Given the description of an element on the screen output the (x, y) to click on. 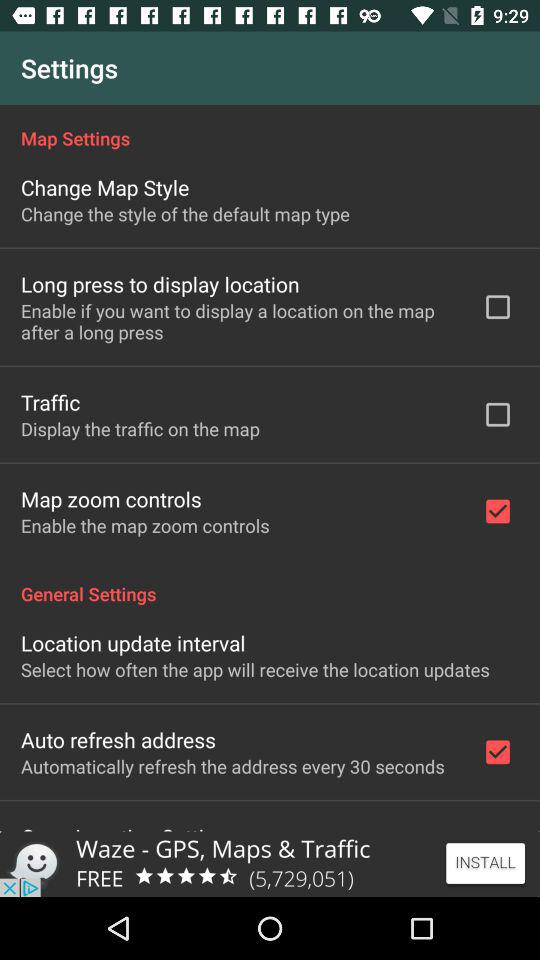
choose the app above the change map style app (270, 127)
